Given the description of an element on the screen output the (x, y) to click on. 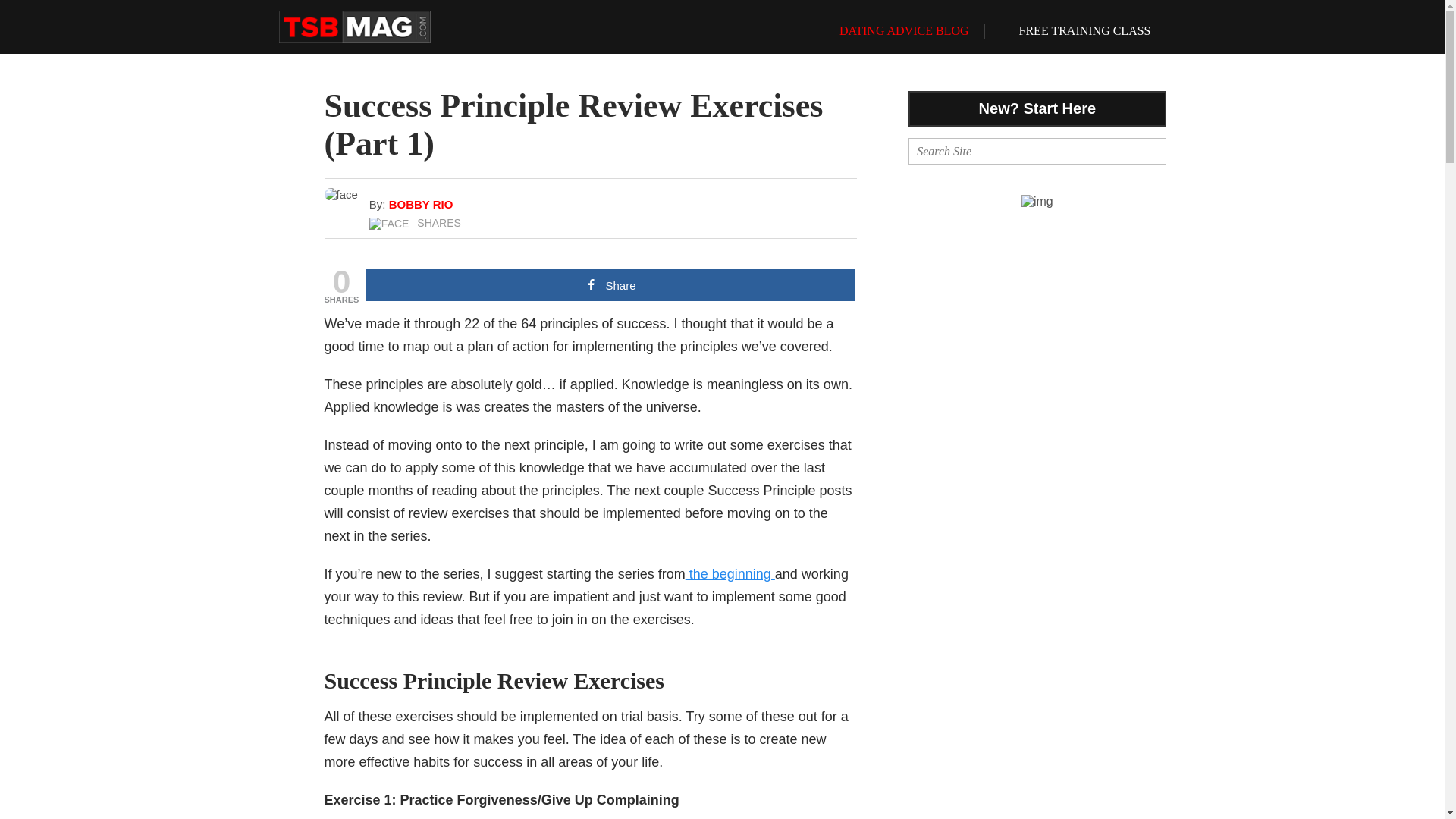
BOBBY RIO (420, 204)
the beginning (729, 573)
Share (609, 285)
DATING ADVICE BLOG (895, 30)
FREE TRAINING CLASS (1075, 30)
New? Start Here (1037, 108)
